Given the description of an element on the screen output the (x, y) to click on. 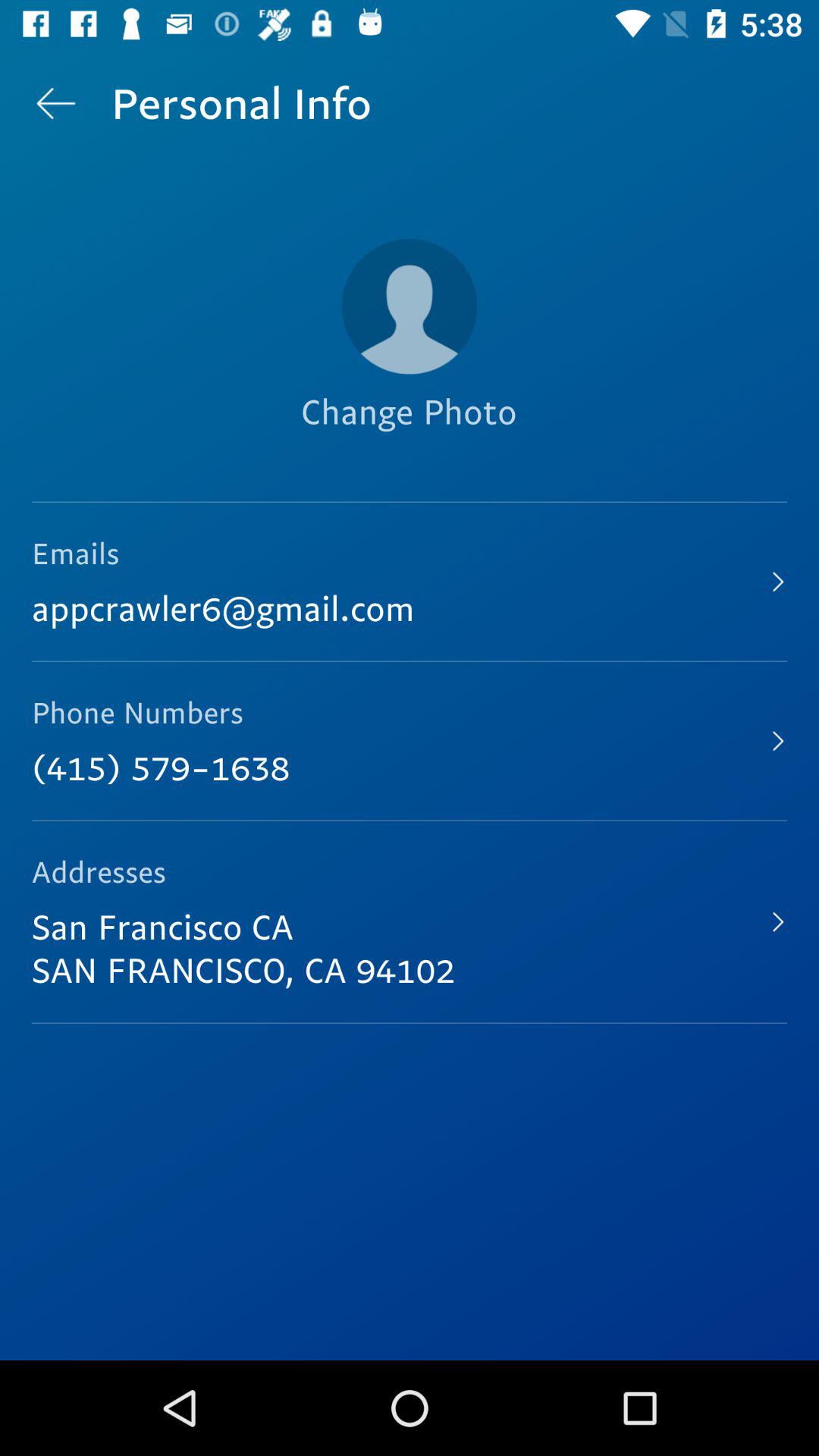
turn off the change photo item (408, 437)
